Given the description of an element on the screen output the (x, y) to click on. 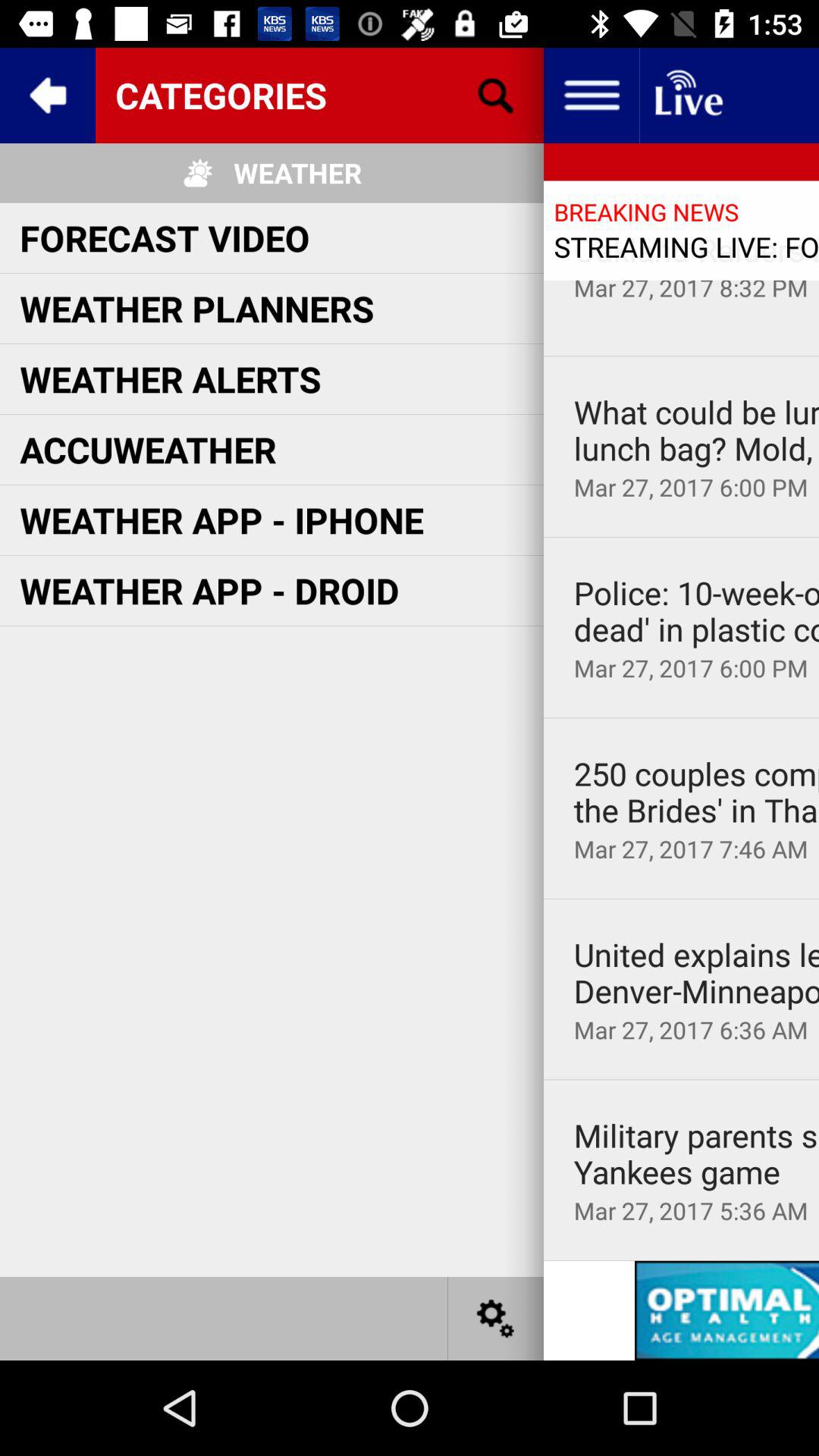
settings option (495, 1318)
